Given the description of an element on the screen output the (x, y) to click on. 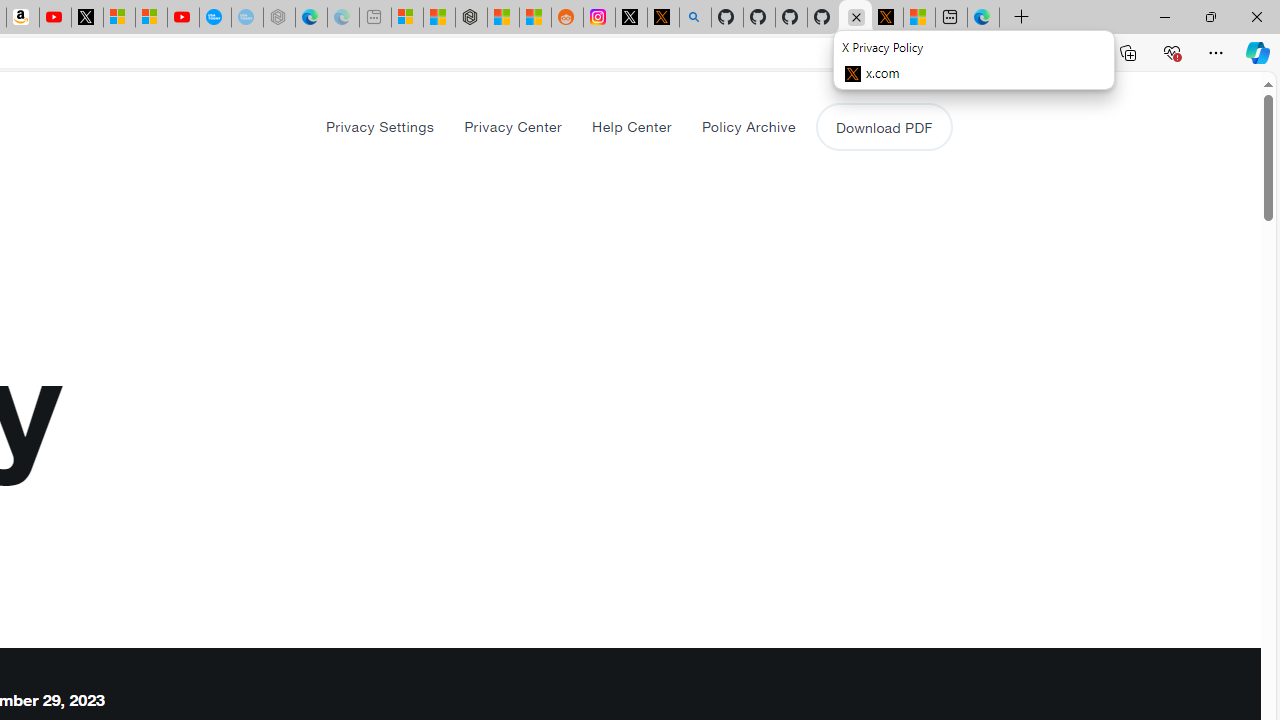
Shopping in Microsoft Edge (910, 53)
Privacy Center (513, 126)
Help Center (631, 126)
Help Center (631, 126)
Policy Archive (748, 126)
help.x.com | 524: A timeout occurred (663, 17)
